Given the description of an element on the screen output the (x, y) to click on. 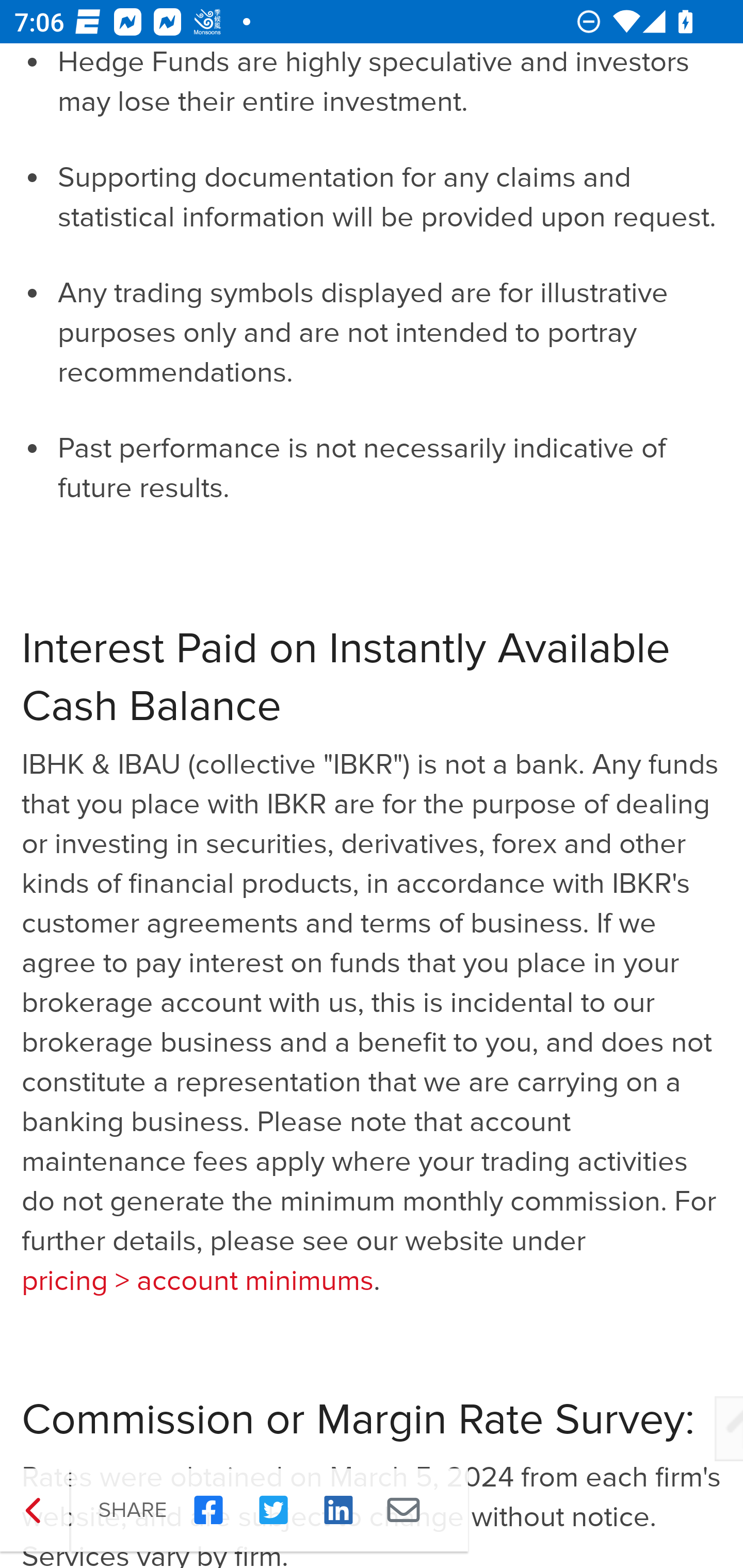
pricing > account minimums (197, 1281)
Share on Facebook  (208, 1511)
Share on Twitter  (272, 1511)
Share on Linkedin  (338, 1511)
Share by Email  (403, 1511)
